Given the description of an element on the screen output the (x, y) to click on. 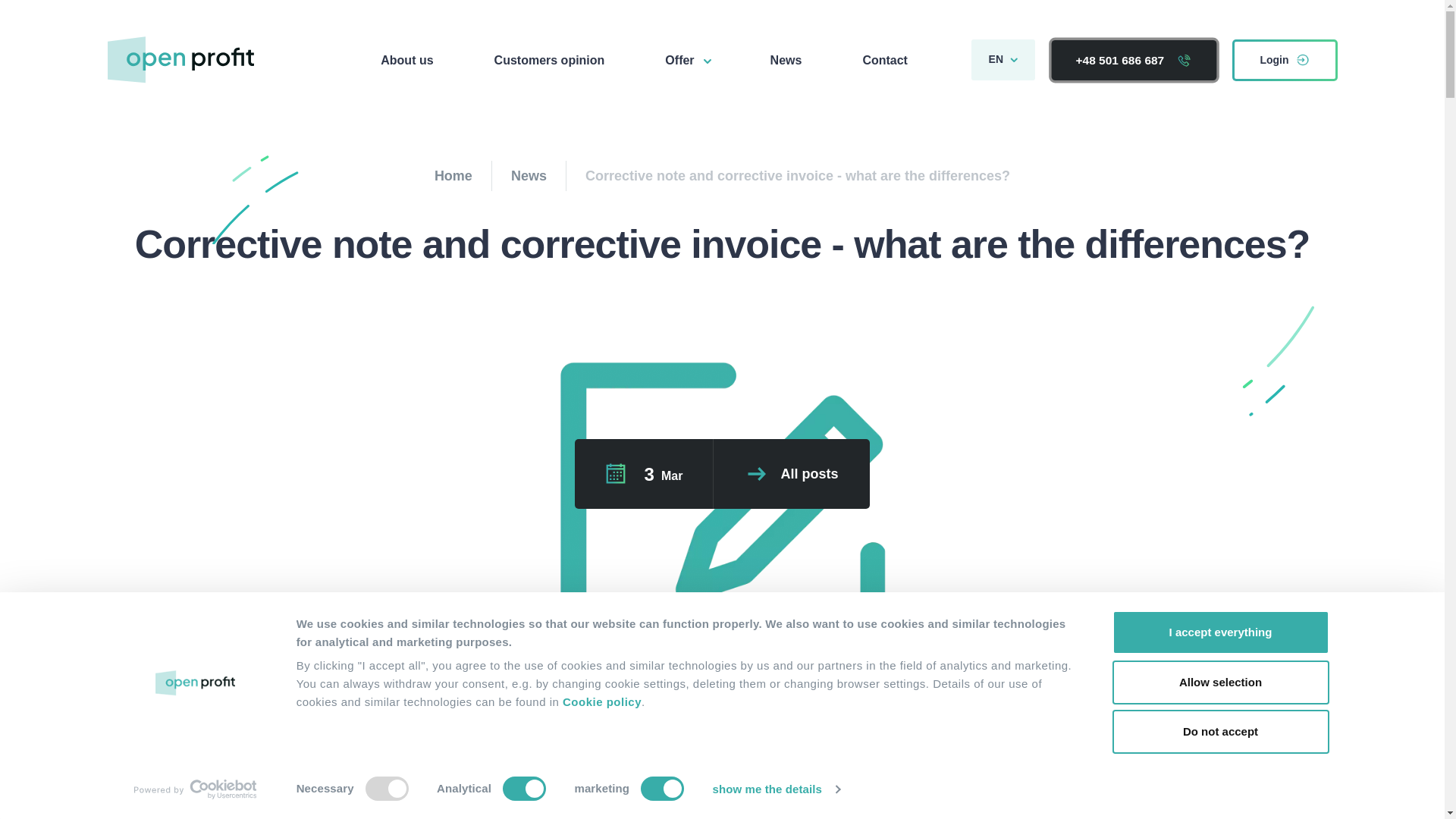
English (1003, 59)
Allow selection (1219, 681)
show me the details (776, 789)
Cookie policy (602, 701)
Do not accept (1219, 731)
I accept everything (1219, 632)
